Given the description of an element on the screen output the (x, y) to click on. 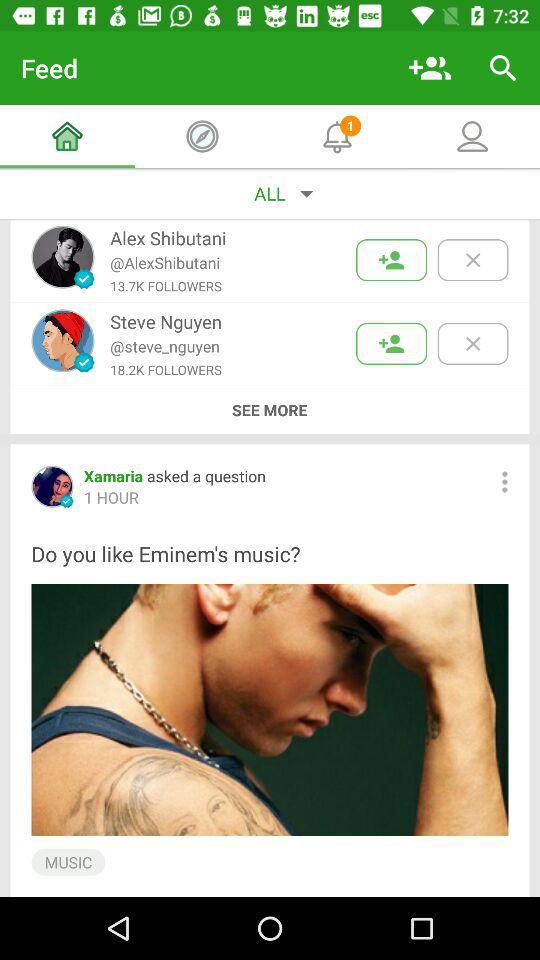
turn on the item next to the feed (429, 67)
